Given the description of an element on the screen output the (x, y) to click on. 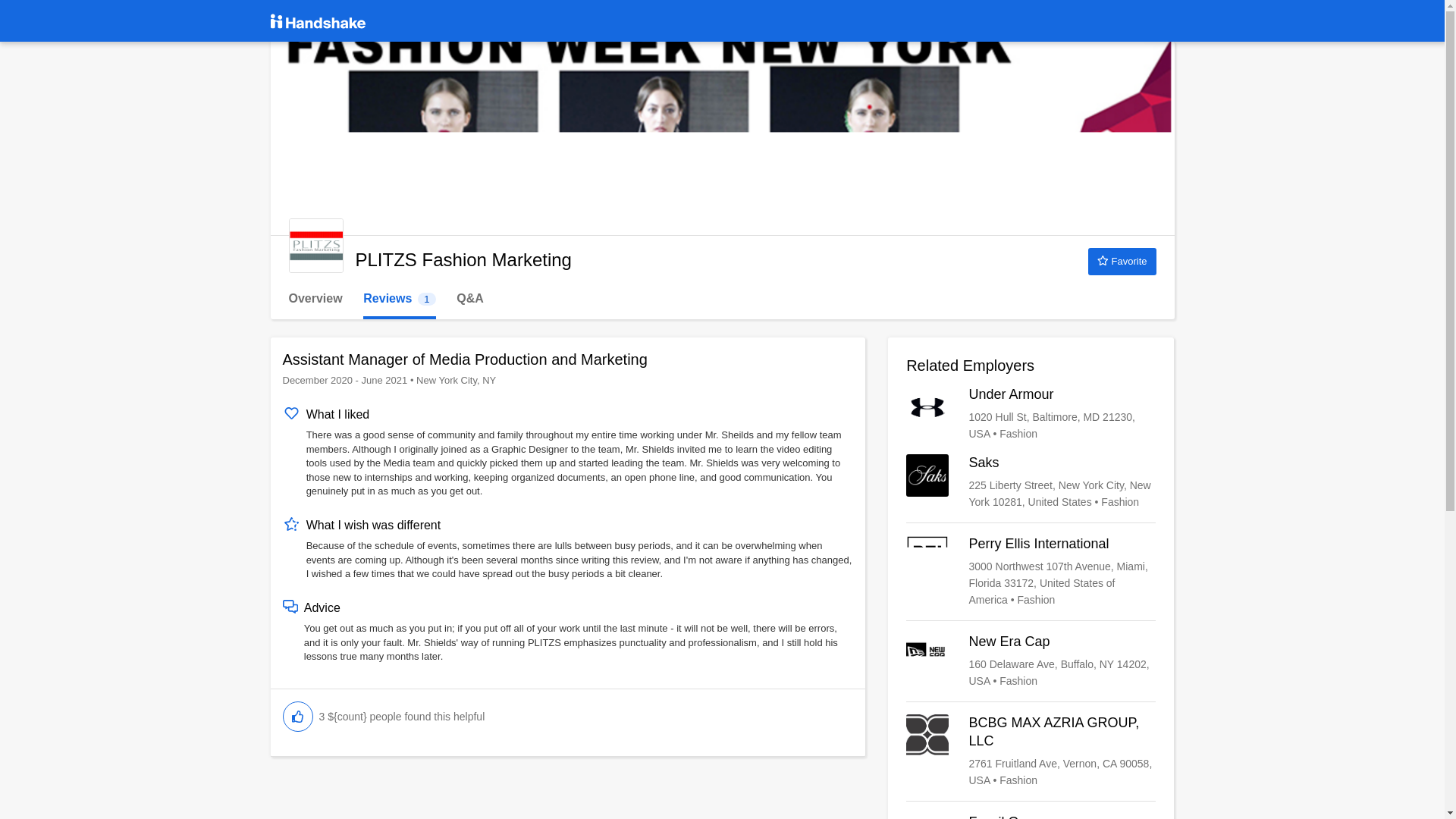
PLITZS Fashion Marketing (315, 245)
BCBG MAX AZRIA GROUP, LLC (1030, 751)
Mark this as helpful (297, 716)
Perry Ellis International (1030, 571)
Overview (315, 298)
Favorite (1121, 261)
New Era Cap (1030, 661)
Fossil Group (1030, 816)
Under Armour (398, 298)
